Given the description of an element on the screen output the (x, y) to click on. 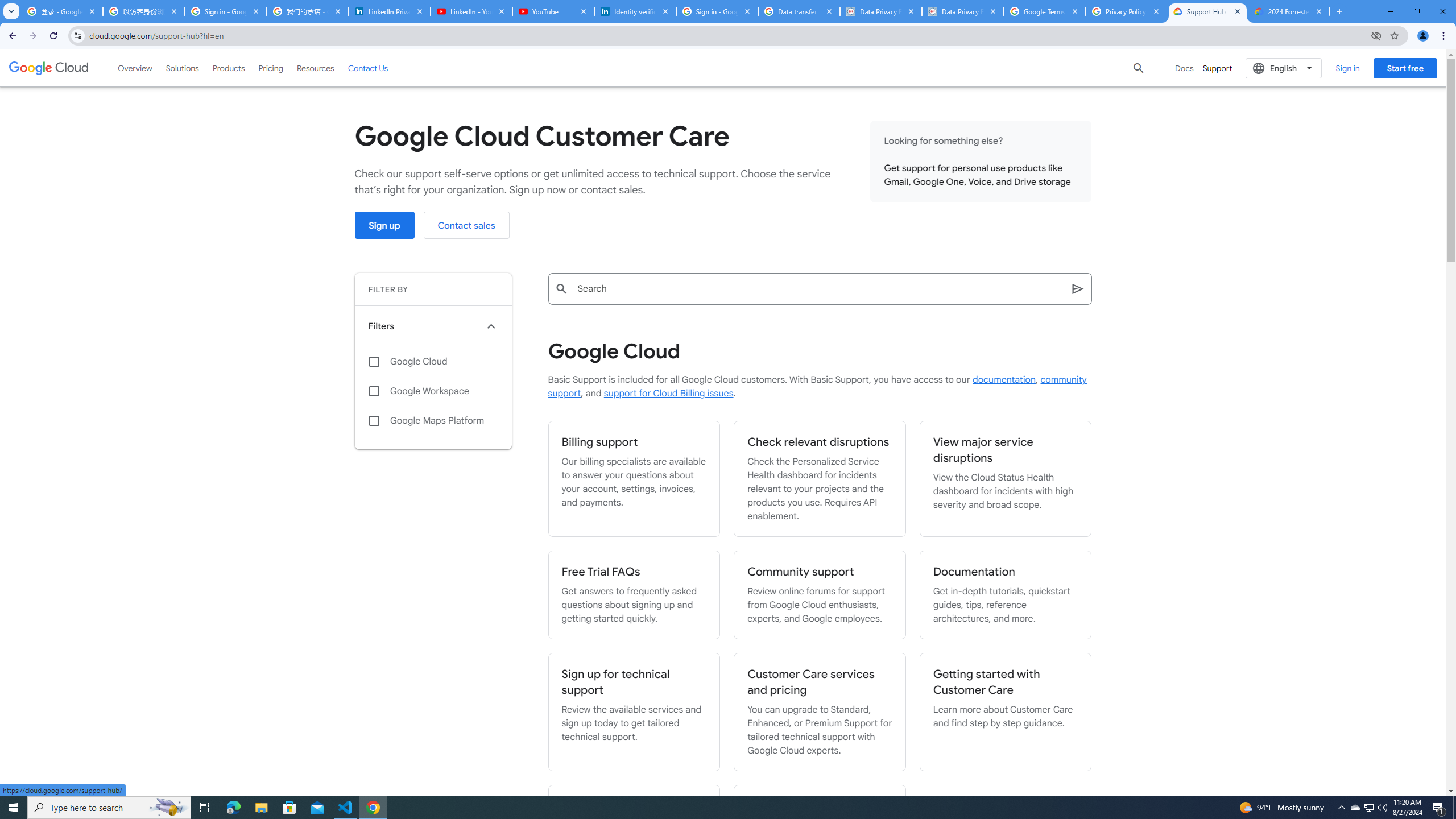
LinkedIn Privacy Policy (389, 11)
Start free (1405, 67)
Contact Us (368, 67)
Solutions (181, 67)
Pricing (270, 67)
Sign in - Google Accounts (225, 11)
